Given the description of an element on the screen output the (x, y) to click on. 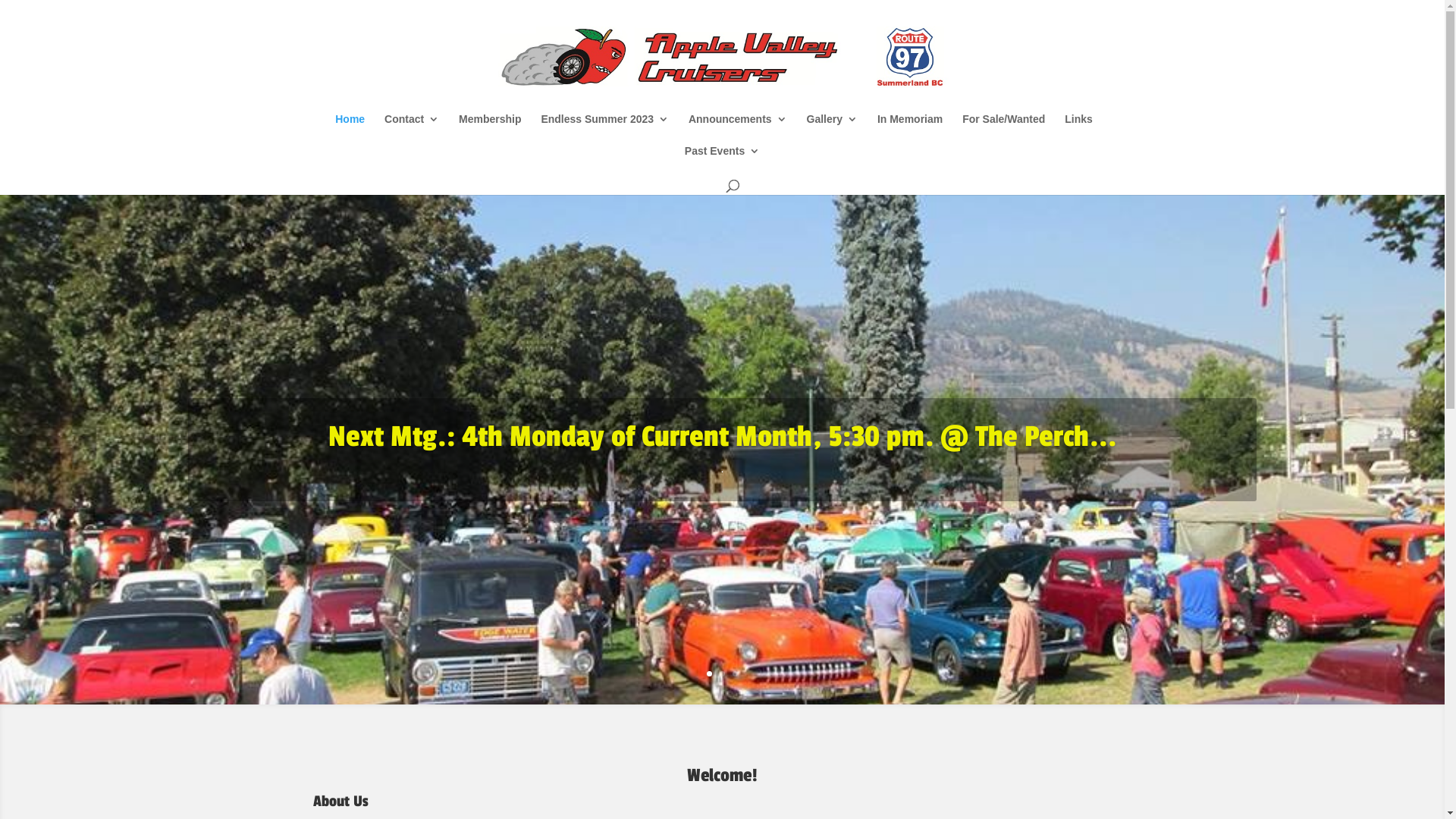
1 Element type: text (709, 673)
Past Events Element type: text (721, 161)
In Memoriam Element type: text (909, 129)
Endless Summer 2023 Element type: text (604, 129)
Announcements Element type: text (737, 129)
For Sale/Wanted Element type: text (1003, 129)
Links Element type: text (1078, 129)
3 Element type: text (734, 673)
Contact Element type: text (411, 129)
Gallery Element type: text (831, 129)
Membership Element type: text (489, 129)
2 Element type: text (721, 673)
Home Element type: text (349, 129)
